Given the description of an element on the screen output the (x, y) to click on. 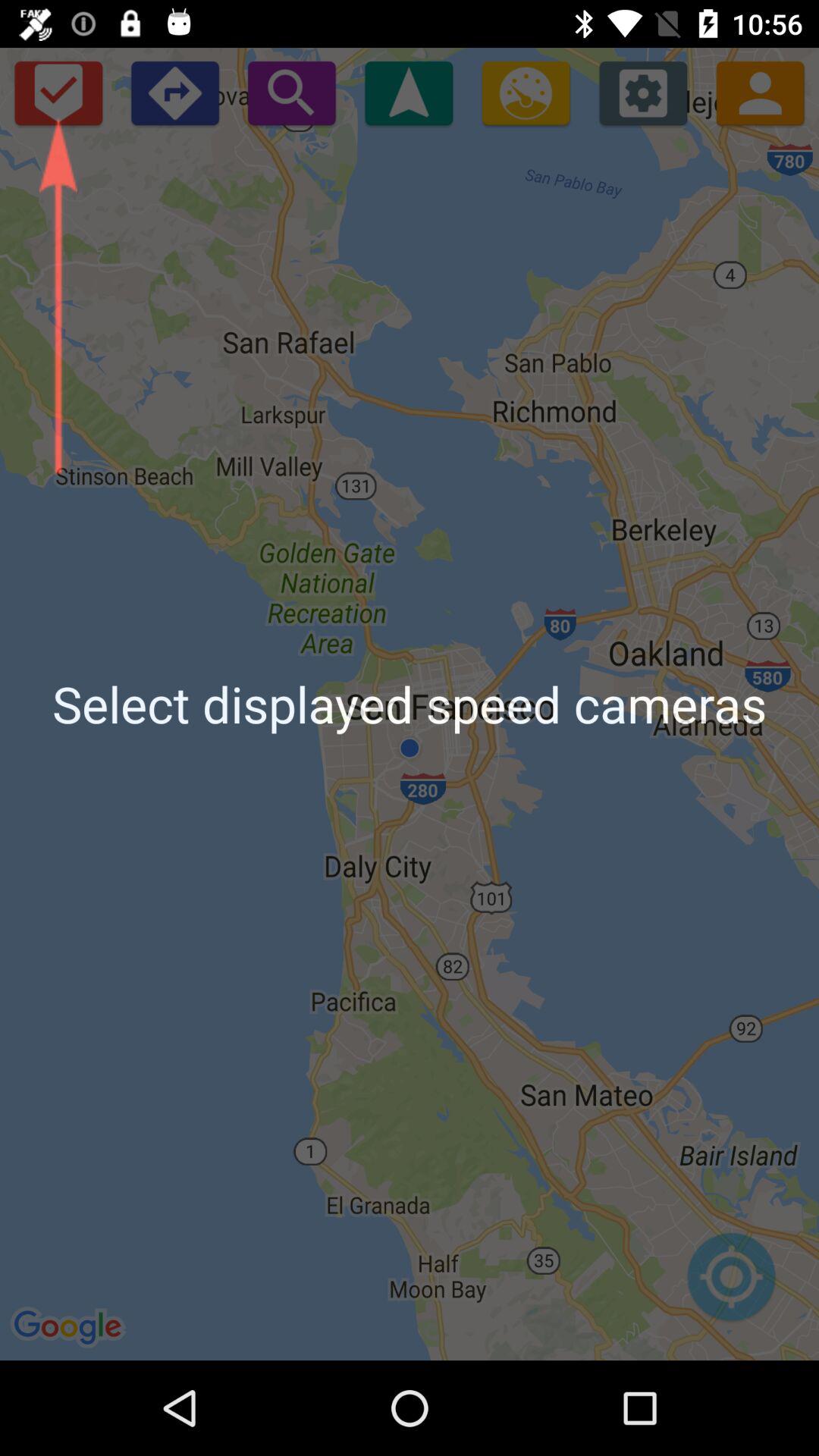
open icon below the select displayed speed item (731, 1284)
